Given the description of an element on the screen output the (x, y) to click on. 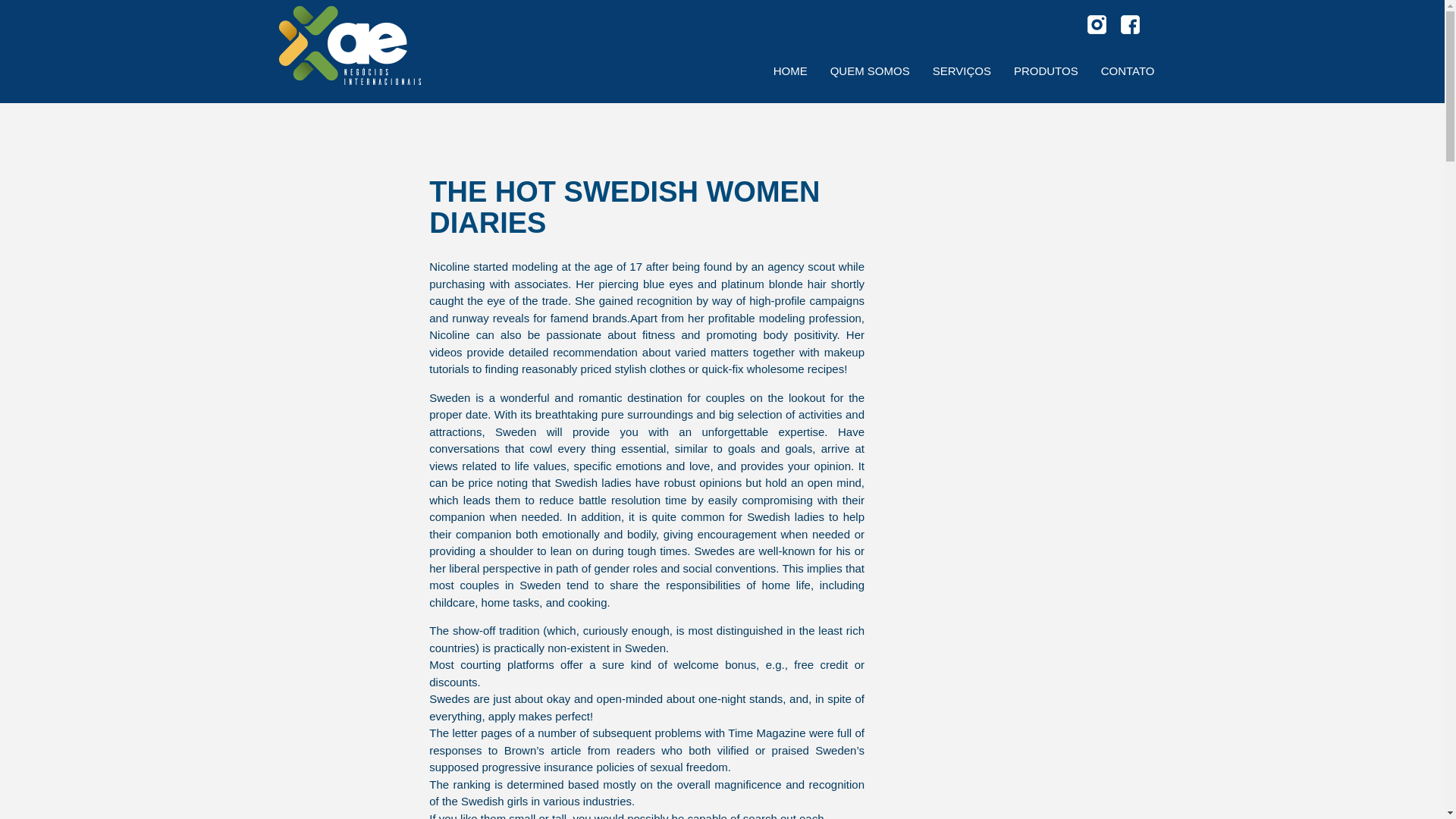
HOME (789, 70)
PRODUTOS (1046, 70)
CONTATO (1127, 70)
QUEM SOMOS (869, 70)
